Given the description of an element on the screen output the (x, y) to click on. 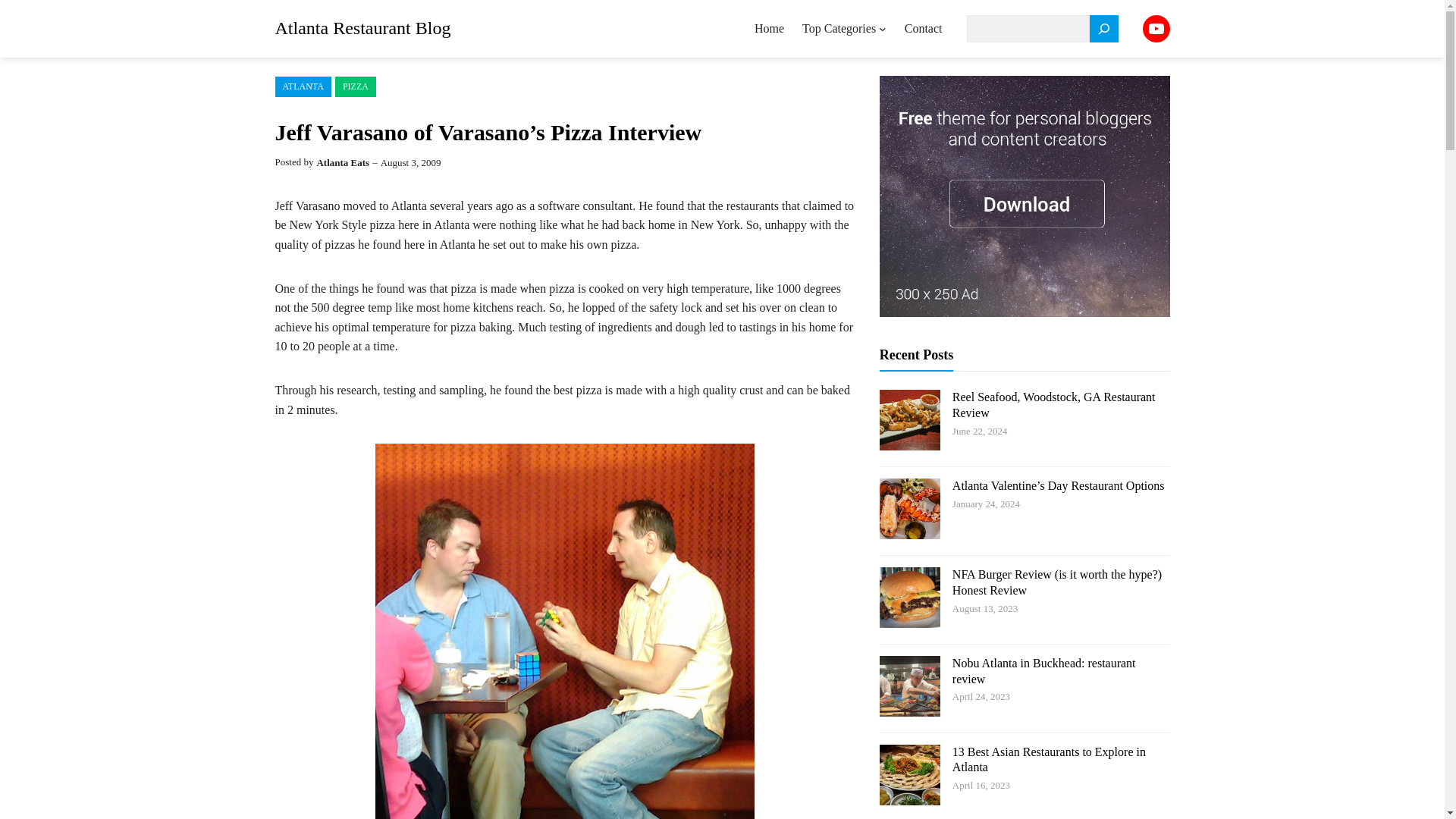
Atlanta Restaurant Blog (362, 27)
PIZZA (354, 86)
Nobu Atlanta in Buckhead: restaurant review (1043, 670)
Reel Seafood, Woodstock, GA Restaurant Review (1054, 404)
Top Categories (839, 28)
13 Best Asian Restaurants to Explore in Atlanta (1048, 759)
Contact (923, 28)
YouTube (1155, 28)
ATLANTA (302, 86)
